Given the description of an element on the screen output the (x, y) to click on. 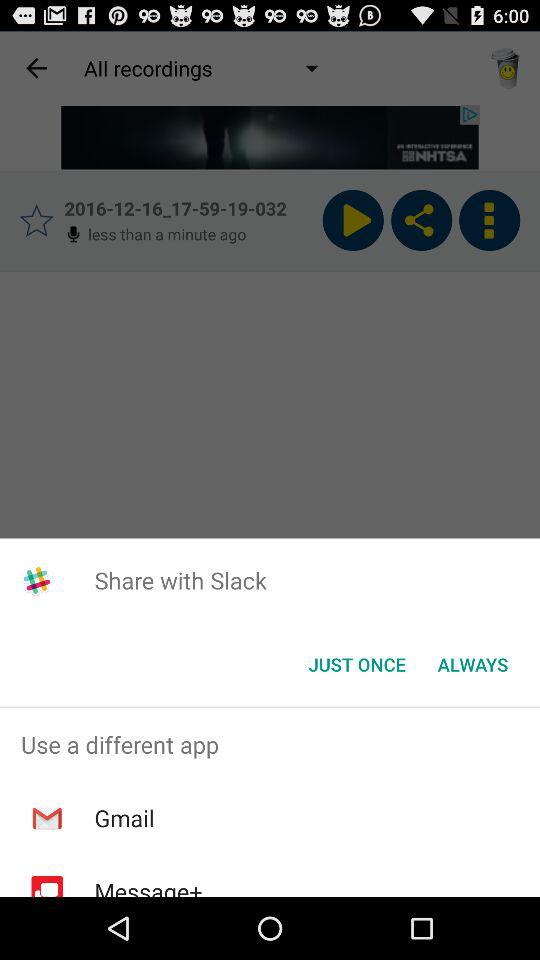
turn on icon below the use a different item (124, 817)
